Given the description of an element on the screen output the (x, y) to click on. 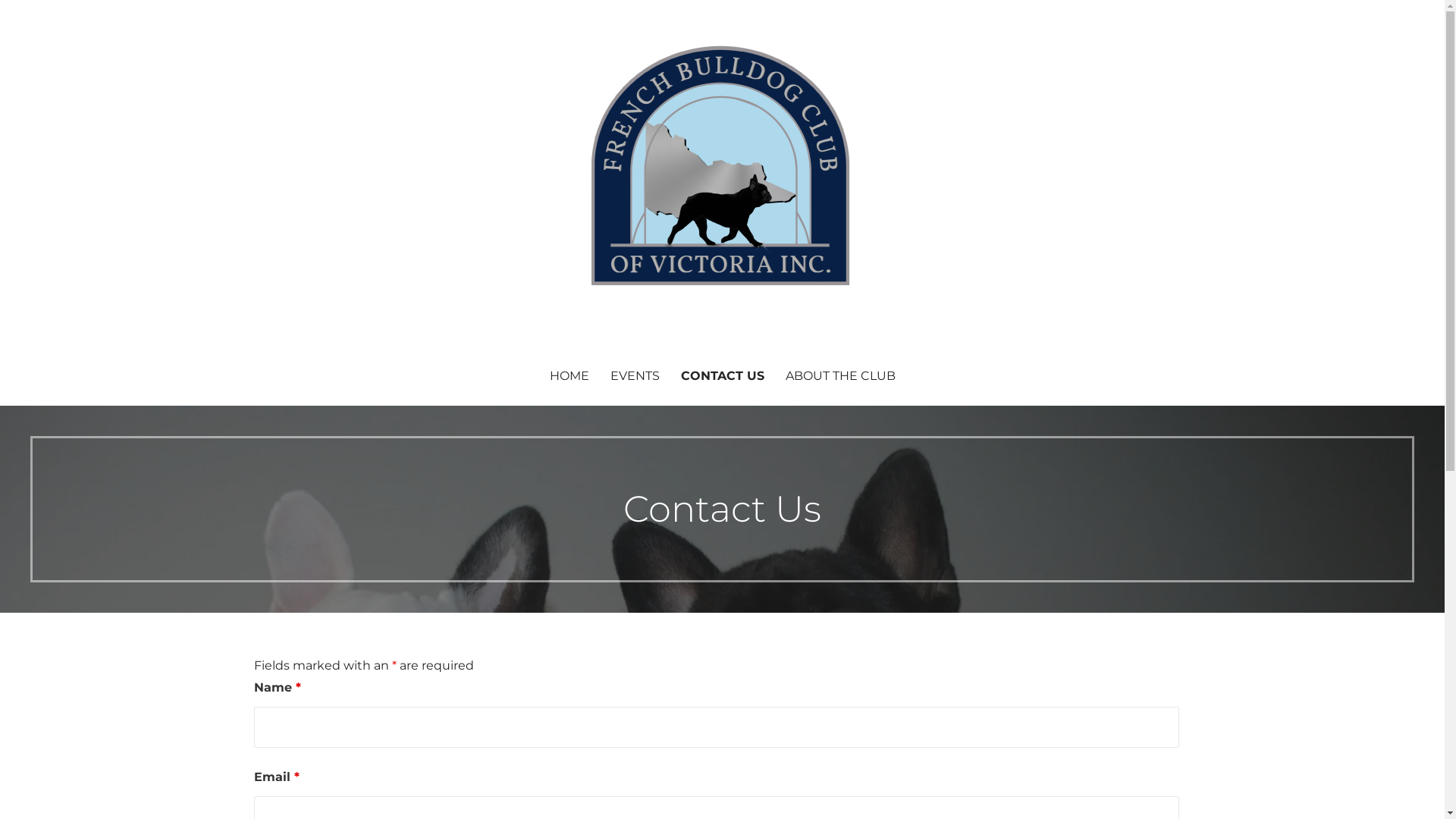
ABOUT THE CLUB Element type: text (840, 376)
HOME Element type: text (568, 376)
CONTACT US Element type: text (722, 376)
EVENTS Element type: text (634, 376)
